Given the description of an element on the screen output the (x, y) to click on. 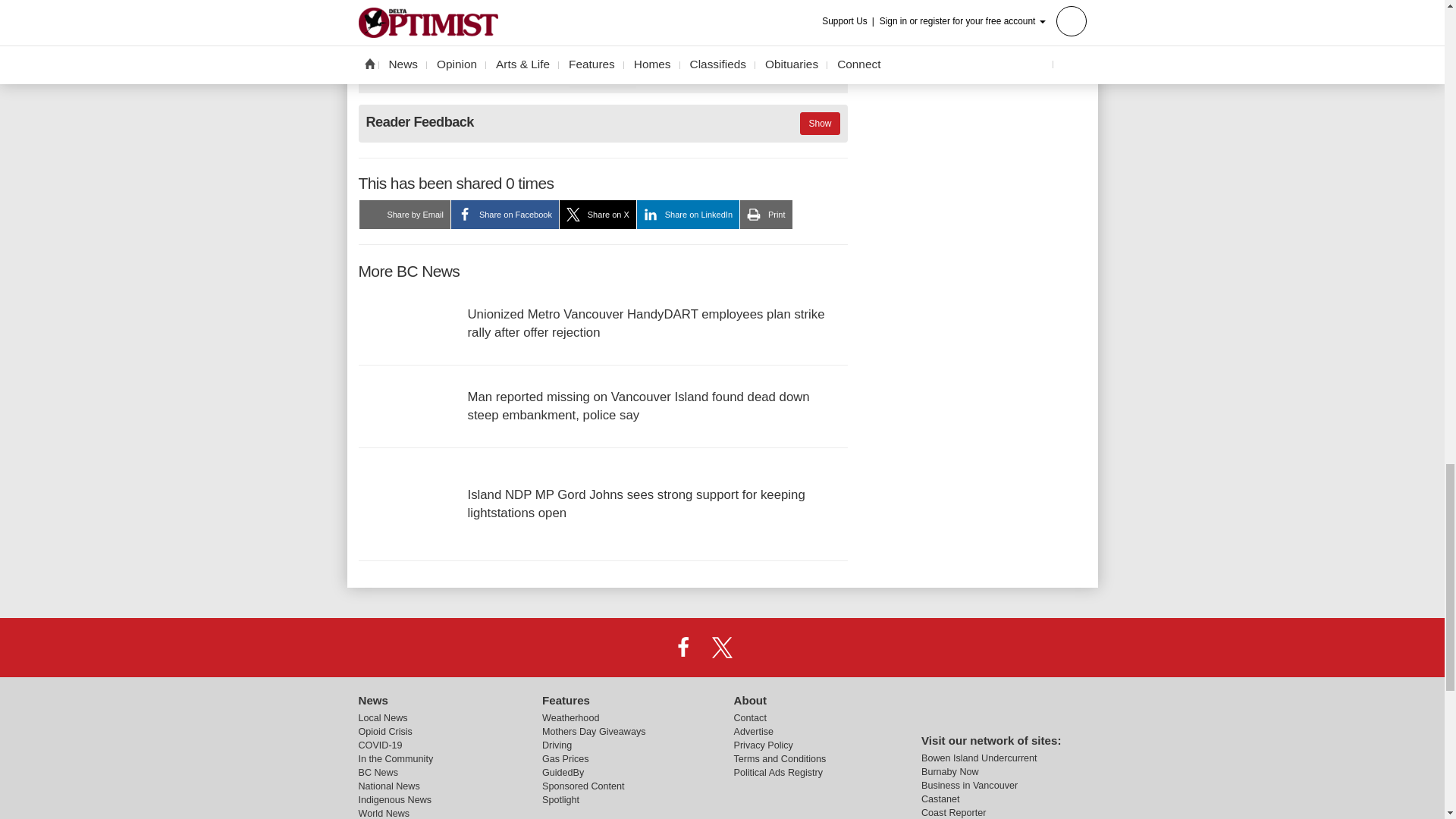
Instagram (760, 646)
X (721, 646)
Facebook (683, 646)
